Given the description of an element on the screen output the (x, y) to click on. 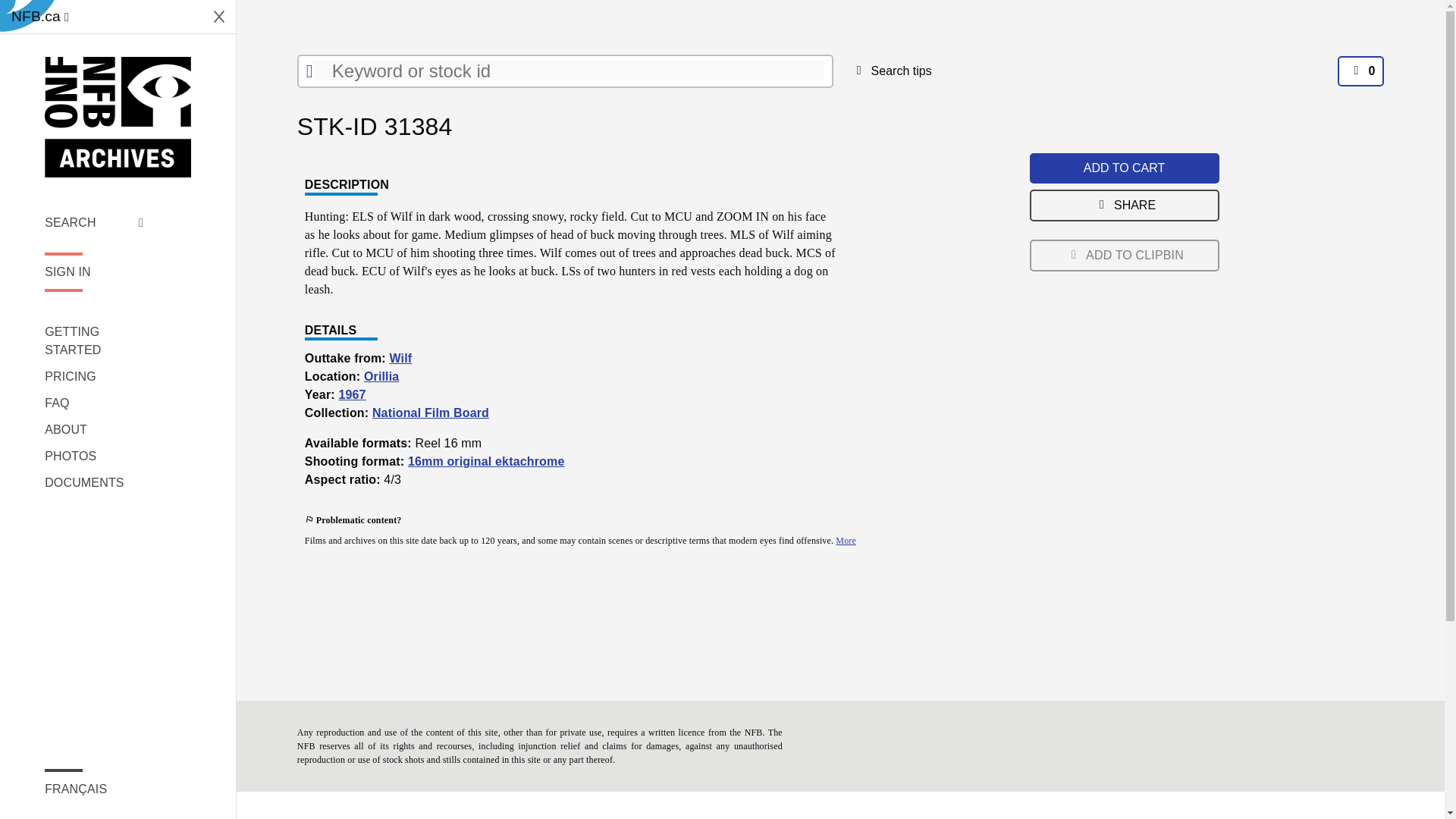
National Film Board of Canada (117, 116)
Watch films on NFB.ca (39, 16)
PHOTOS (93, 456)
0 (1361, 71)
ABOUT (93, 429)
FAQ (93, 402)
Wilf (400, 358)
More (845, 540)
ADD TO CART (1124, 168)
16mm original ektachrome (485, 461)
